Given the description of an element on the screen output the (x, y) to click on. 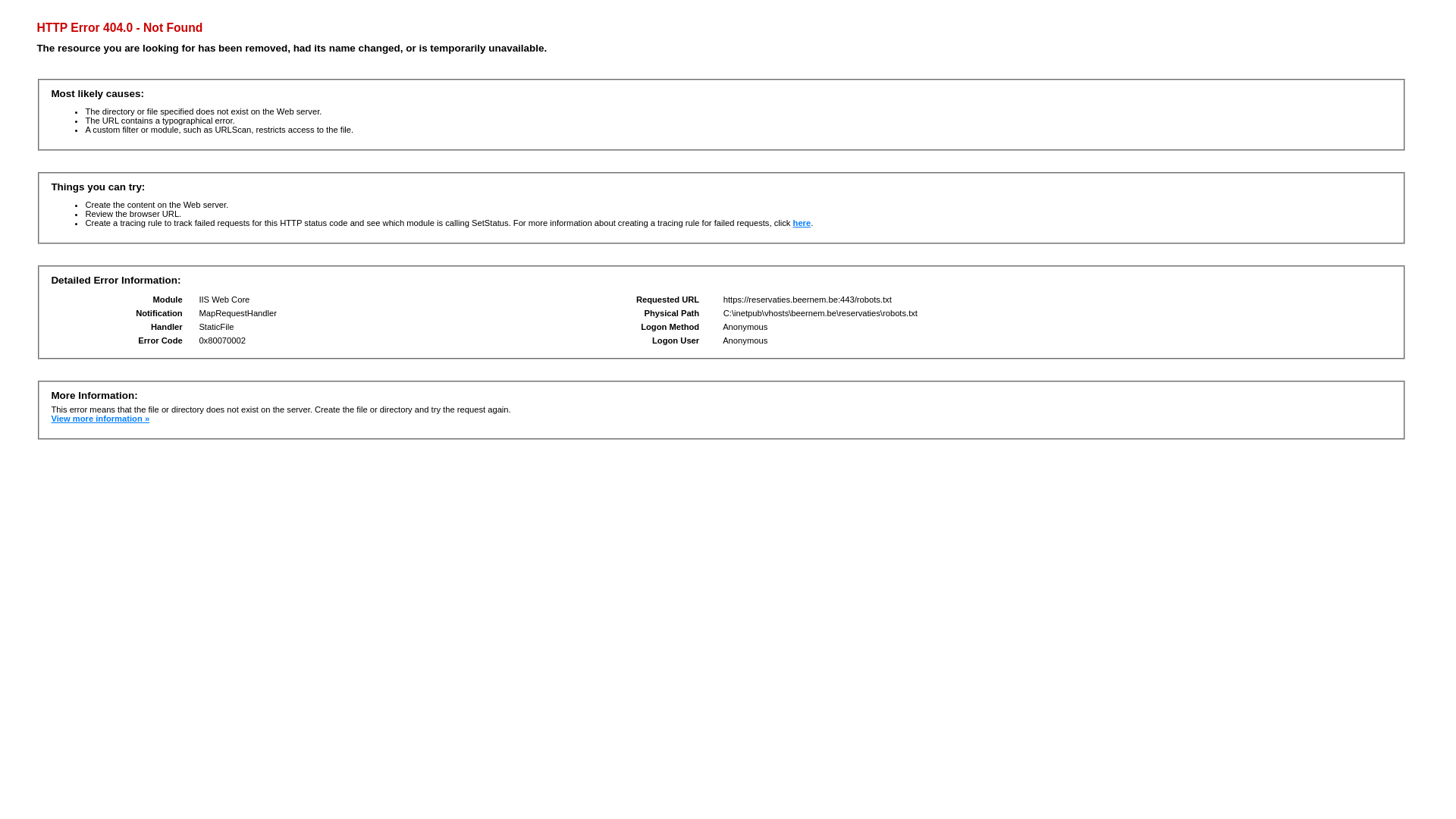
here Element type: text (802, 222)
